Given the description of an element on the screen output the (x, y) to click on. 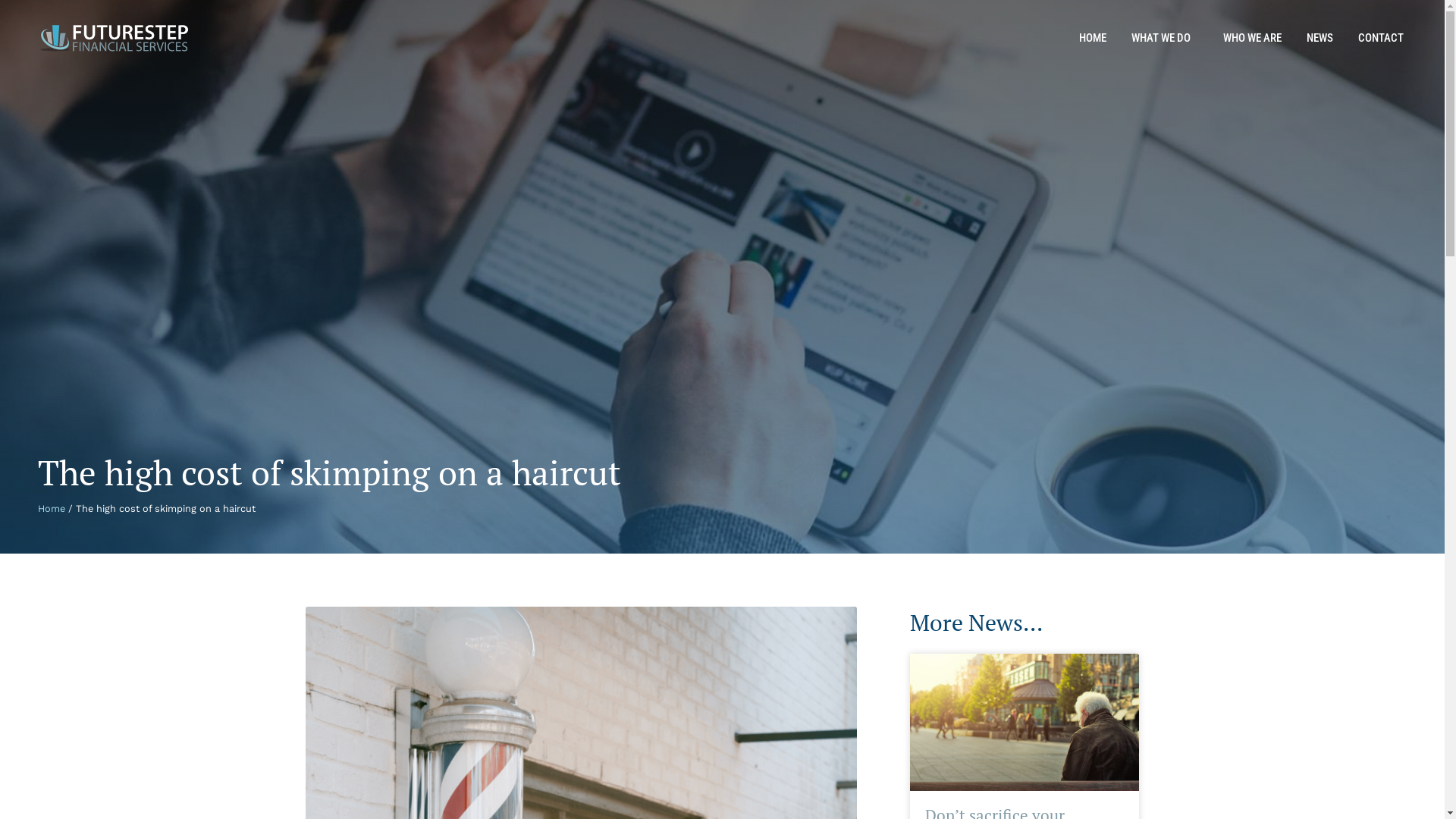
Home Element type: text (51, 508)
WHO WE ARE Element type: text (1252, 37)
NEWS Element type: text (1319, 37)
HOME Element type: text (1092, 37)
WHAT WE DO Element type: text (1164, 37)
CONTACT Element type: text (1380, 37)
